Given the description of an element on the screen output the (x, y) to click on. 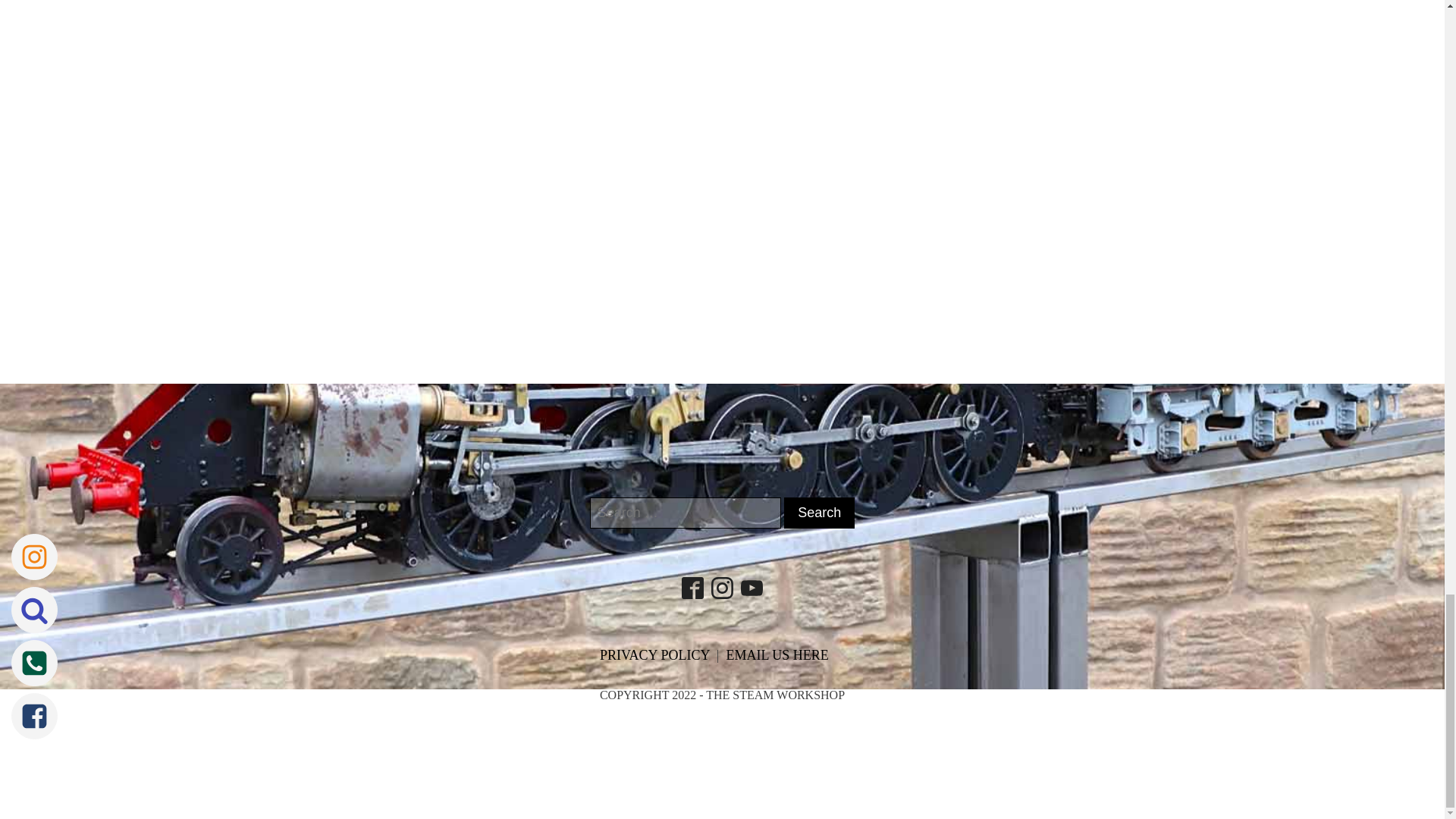
Search (819, 512)
Search (819, 512)
5-inch-BR-9F-locomotive-kit-modelworks-winson-for-sale-7 (312, 35)
